Given the description of an element on the screen output the (x, y) to click on. 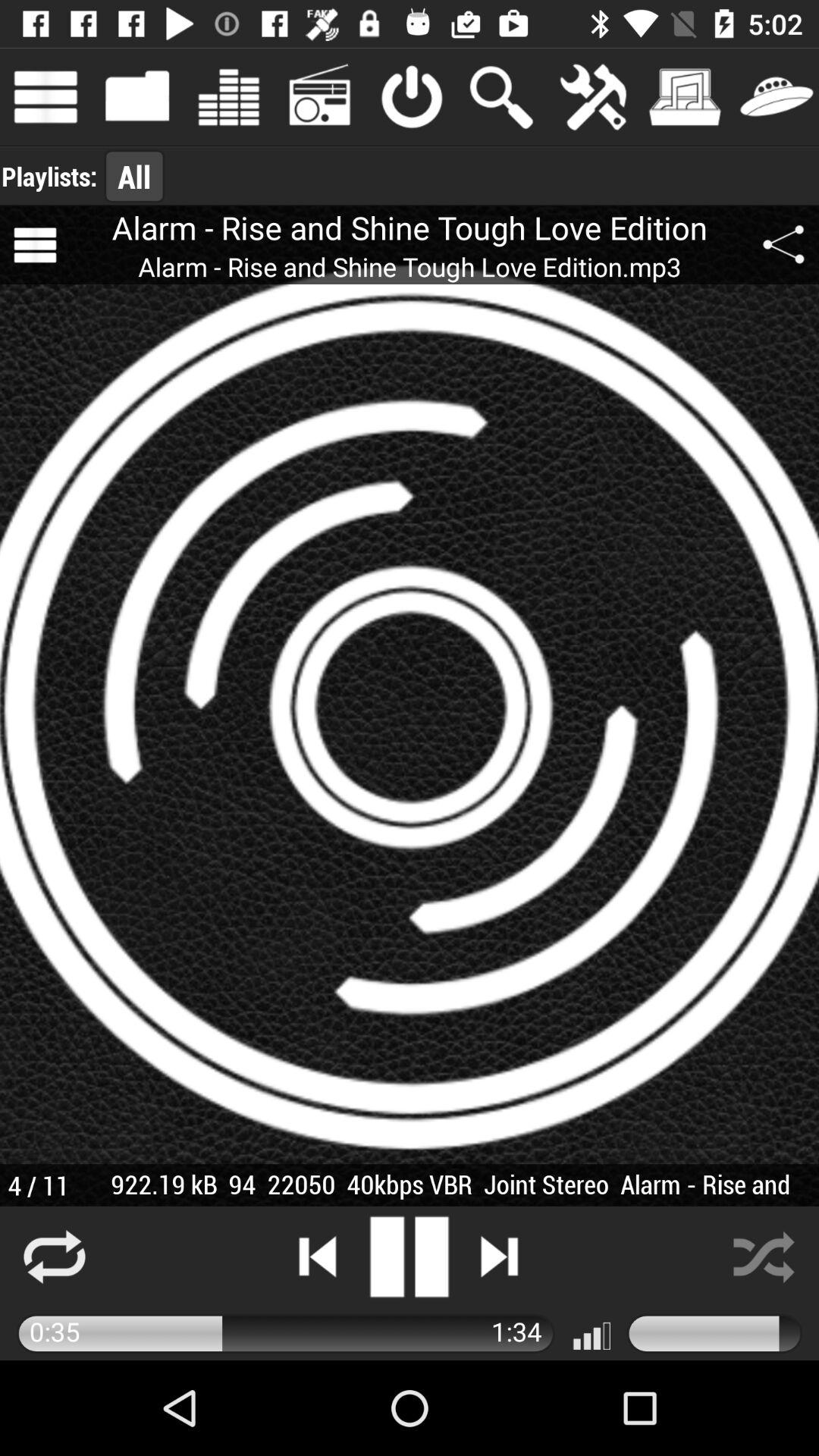
choose app next to the playlists: item (134, 176)
